Given the description of an element on the screen output the (x, y) to click on. 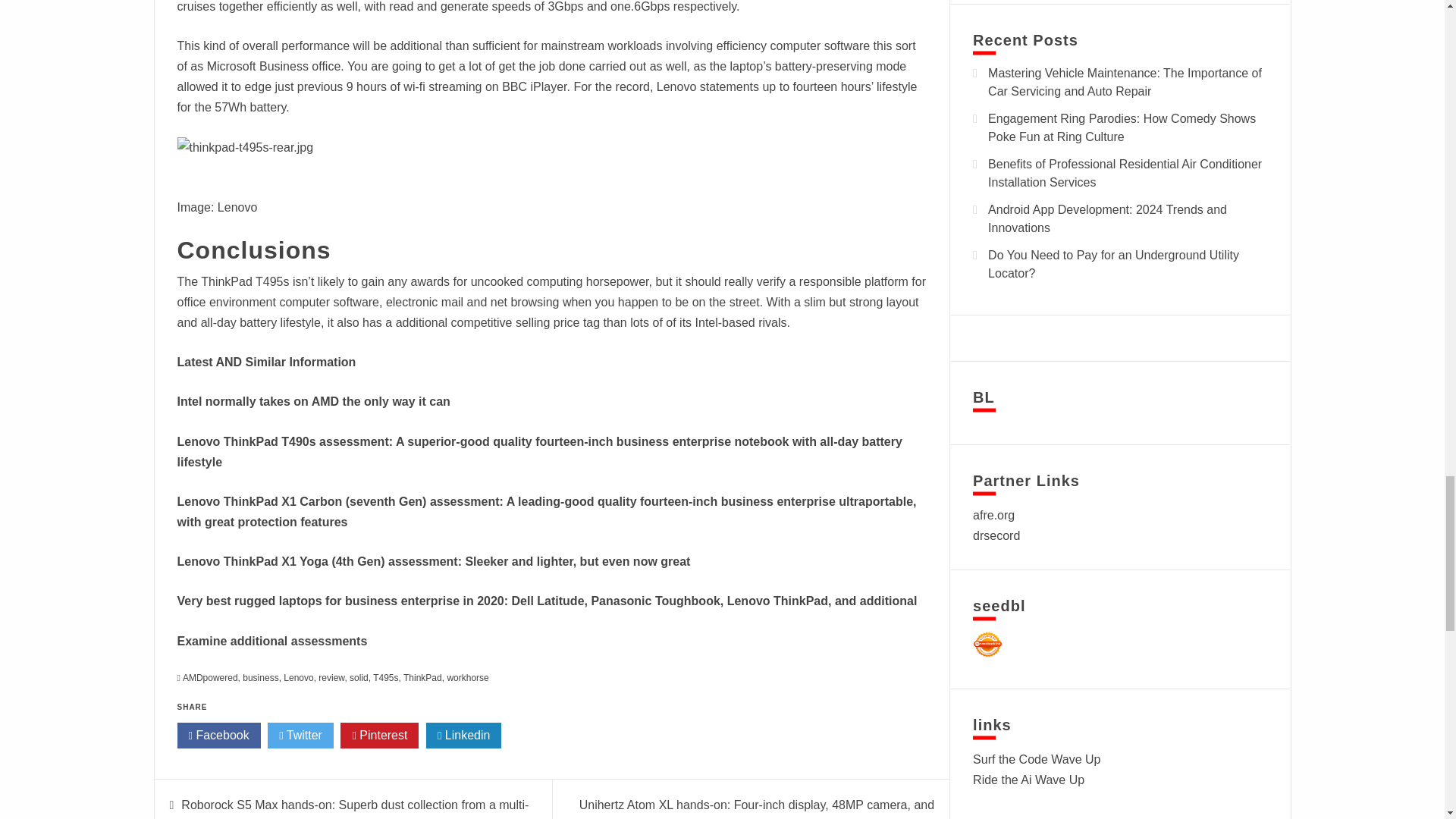
Lenovo (298, 677)
solid (358, 677)
review (330, 677)
ThinkPad (422, 677)
Facebook (218, 735)
T495s (384, 677)
workhorse (466, 677)
AMDpowered (210, 677)
business (260, 677)
